Given the description of an element on the screen output the (x, y) to click on. 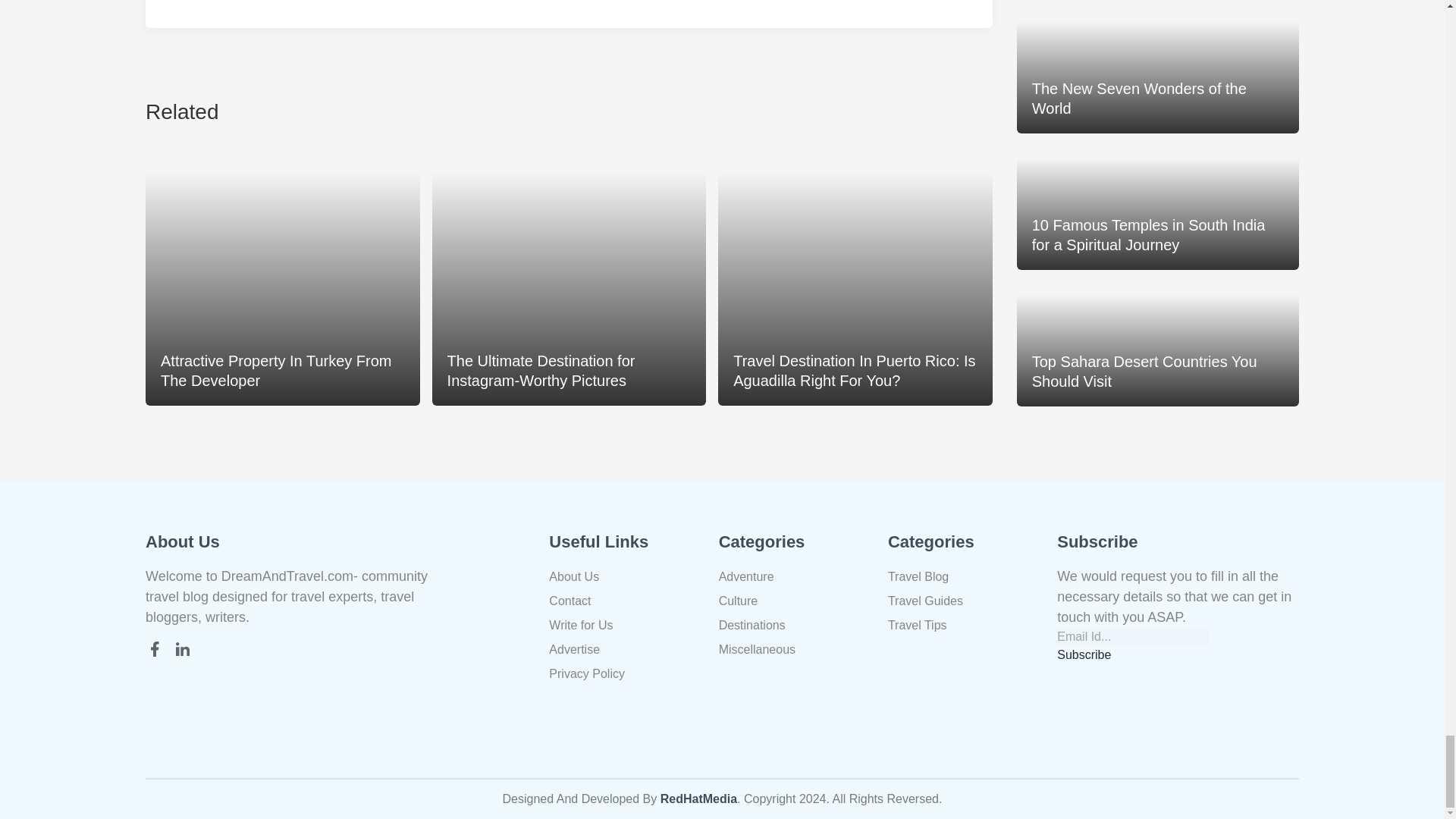
Post Comment (208, 2)
The Ultimate Destination for Instagram-Worthy Pictures (569, 277)
Attractive Property In Turkey From The Developer (282, 277)
Post Comment (208, 2)
Subscribe (1083, 655)
